Given the description of an element on the screen output the (x, y) to click on. 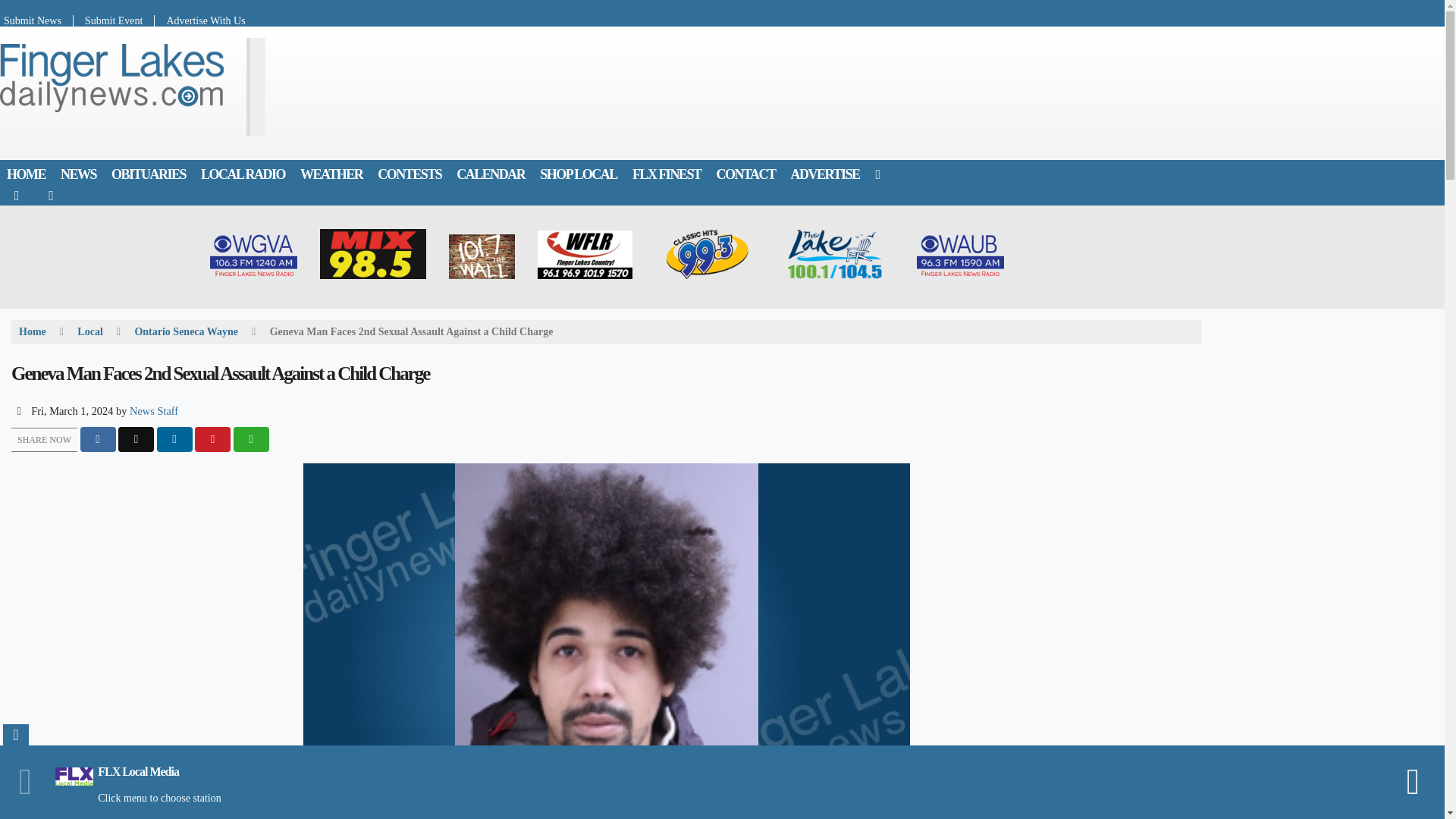
Submit News (37, 20)
Follow us on X (50, 195)
Follow us on Facebook (16, 195)
Posts by News Staff (153, 410)
Submit Event (114, 20)
Advertise With Us (199, 20)
